Given the description of an element on the screen output the (x, y) to click on. 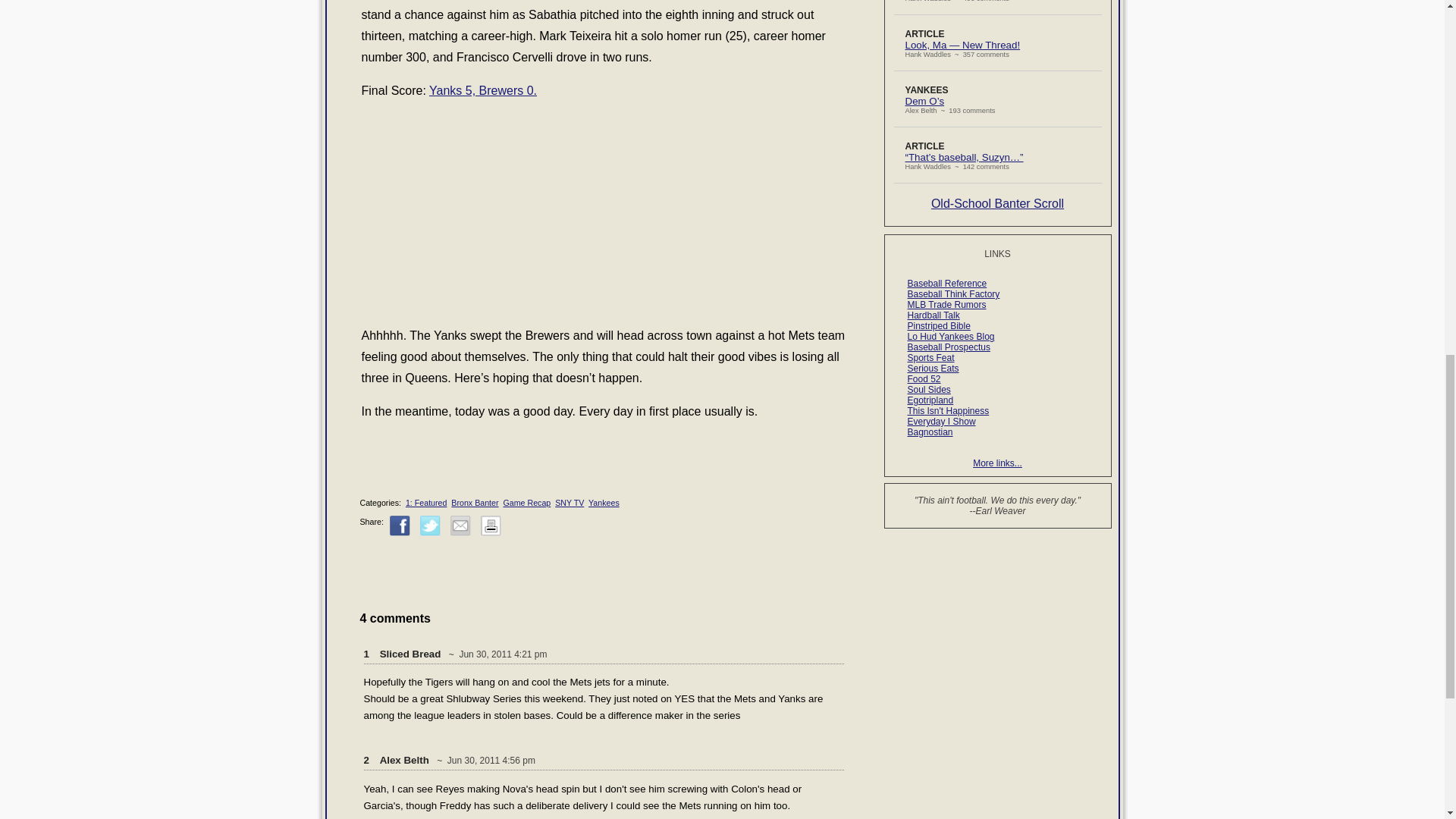
Share via email (459, 525)
Share on Facebook (400, 525)
Share on Twitter (430, 525)
Print This Post (490, 532)
Print This Post (490, 525)
